Given the description of an element on the screen output the (x, y) to click on. 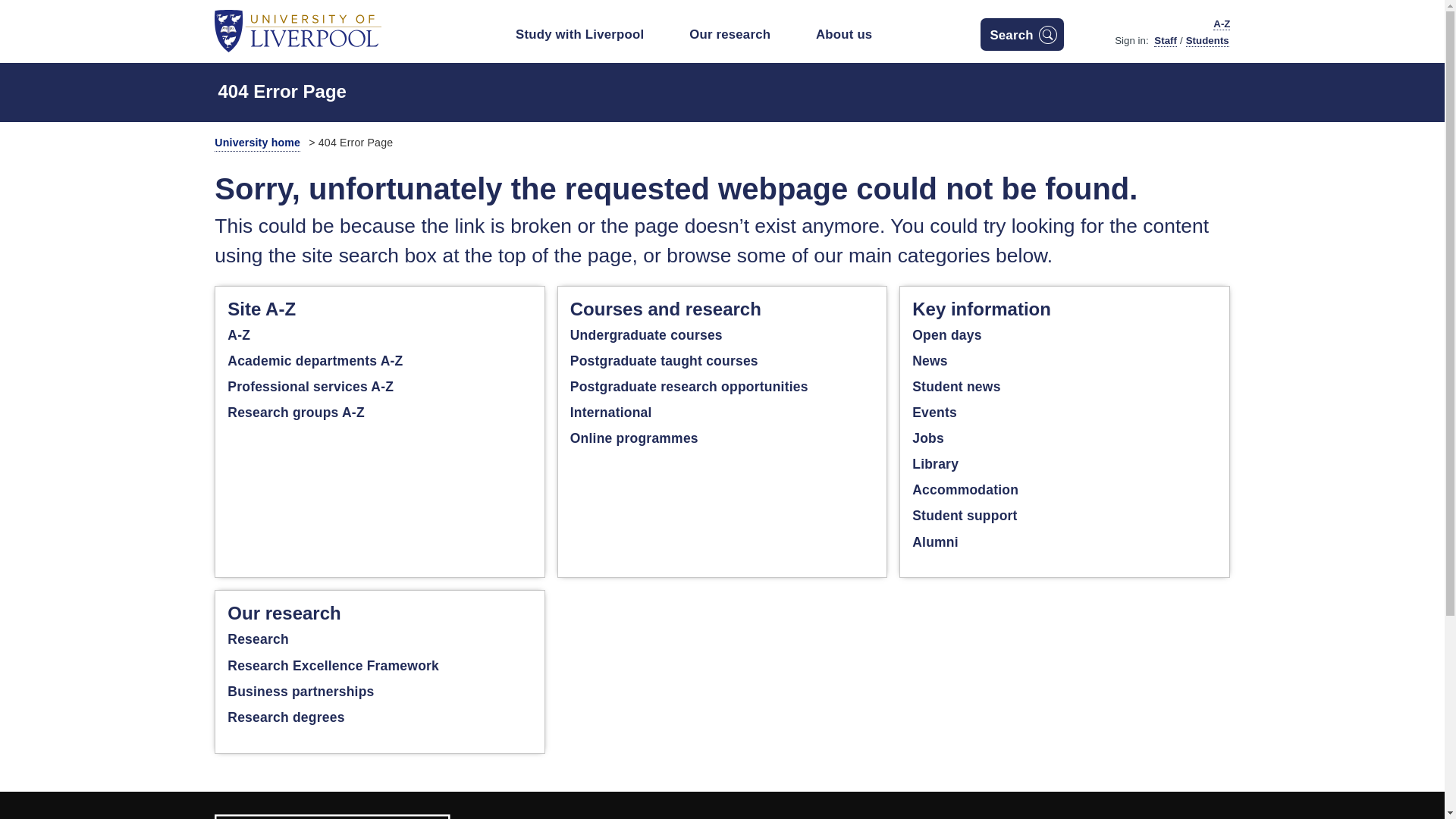
Accommodations (964, 489)
News (929, 360)
News (956, 386)
Events (934, 412)
Student support (964, 515)
Alumni (935, 541)
University of Liverpool Home (297, 30)
Library (935, 463)
Jobs (927, 437)
Open Days (946, 335)
